Given the description of an element on the screen output the (x, y) to click on. 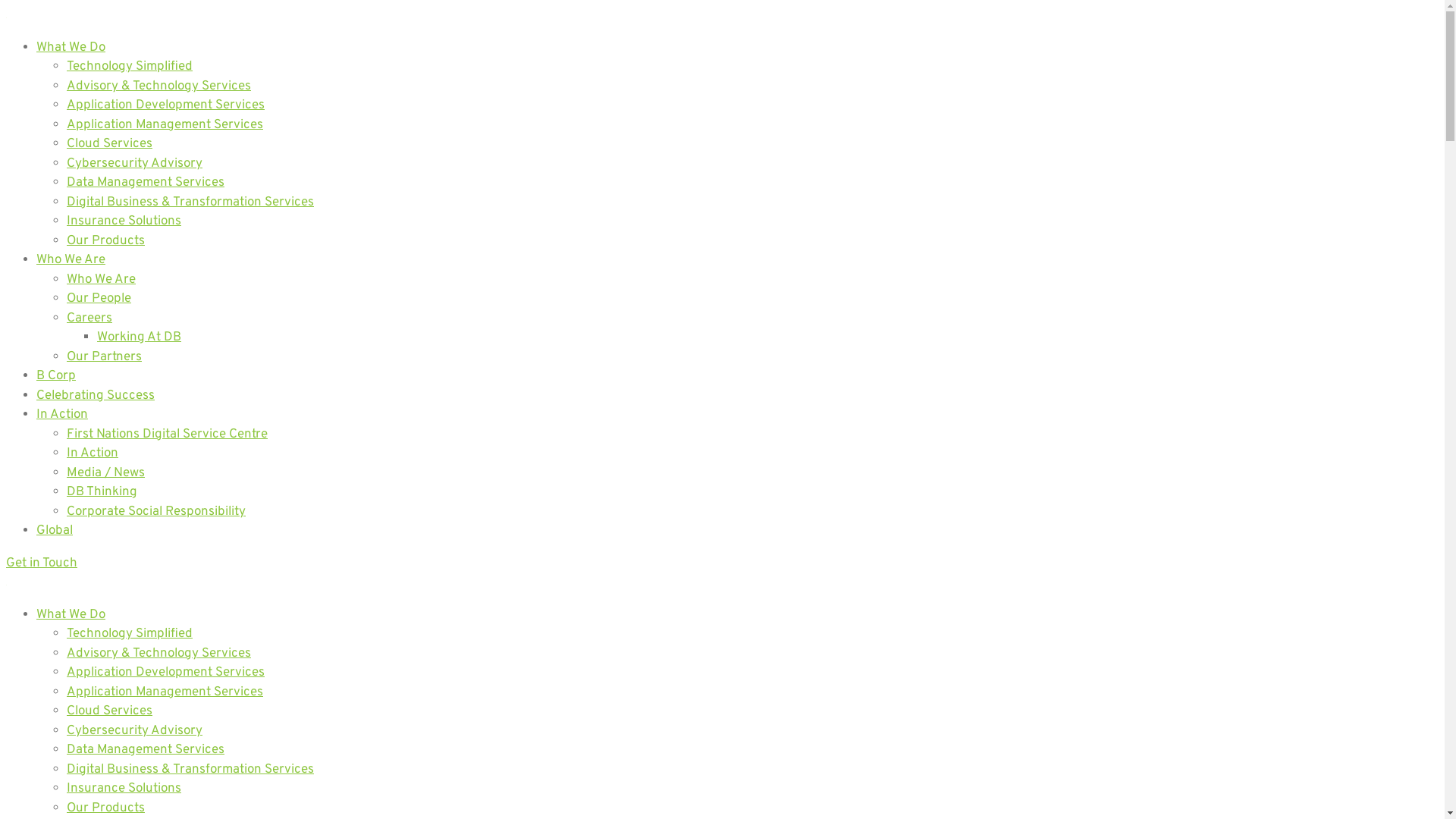
Who We Are Element type: text (100, 279)
Application Development Services Element type: text (165, 672)
Our Partners Element type: text (103, 356)
Get in Touch Element type: text (722, 563)
Celebrating Success Element type: text (95, 394)
Advisory & Technology Services Element type: text (158, 85)
Corporate Social Responsibility Element type: text (155, 511)
Our People Element type: text (98, 298)
In Action Element type: text (61, 414)
Who We Are Element type: text (70, 259)
Data Management Services Element type: text (145, 749)
Working At DB Element type: text (139, 337)
Cybersecurity Advisory Element type: text (134, 162)
Application Development Services Element type: text (165, 105)
Cloud Services Element type: text (109, 710)
Cloud Services Element type: text (109, 143)
Insurance Solutions Element type: text (123, 221)
Technology Simplified Element type: text (129, 66)
First Nations Digital Service Centre Element type: text (166, 434)
Digital Business & Transformation Services Element type: text (189, 769)
Insurance Solutions Element type: text (123, 788)
Digital Business & Transformation Services Element type: text (189, 202)
Application Management Services Element type: text (164, 692)
Global Element type: text (54, 530)
DB Thinking Element type: text (101, 491)
B Corp Element type: text (55, 375)
Advisory & Technology Services Element type: text (158, 652)
Our Products Element type: text (105, 240)
Application Management Services Element type: text (164, 124)
In Action Element type: text (92, 453)
What We Do Element type: text (70, 614)
Our Products Element type: text (105, 807)
What We Do Element type: text (70, 47)
Cybersecurity Advisory Element type: text (134, 729)
Careers Element type: text (89, 317)
Data Management Services Element type: text (145, 182)
Media / News Element type: text (105, 472)
Technology Simplified Element type: text (129, 633)
